Given the description of an element on the screen output the (x, y) to click on. 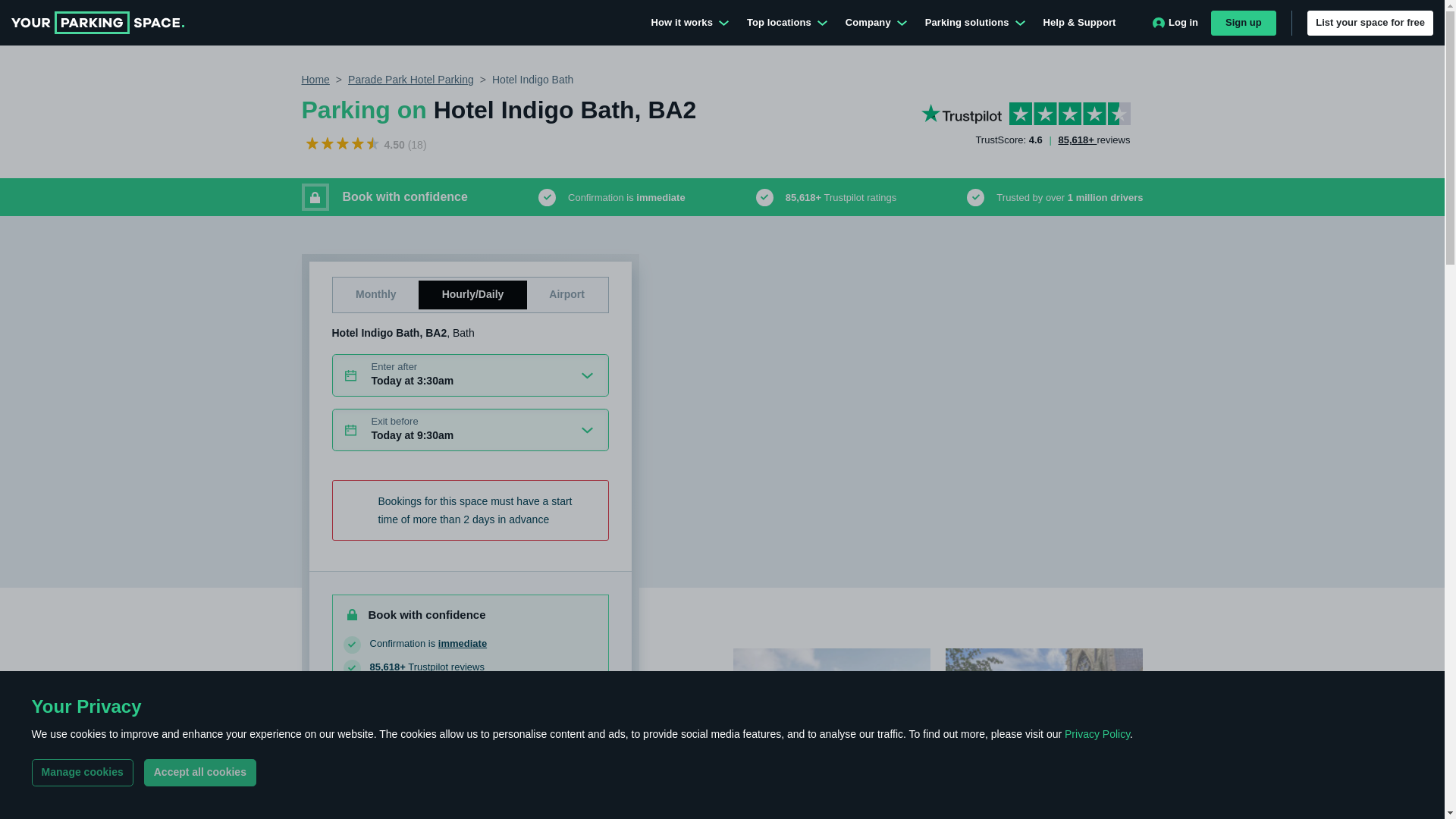
airport (553, 291)
long (360, 291)
short (446, 291)
Go to the homepage (97, 22)
Company (875, 22)
How it works (690, 22)
Top locations (786, 22)
